Given the description of an element on the screen output the (x, y) to click on. 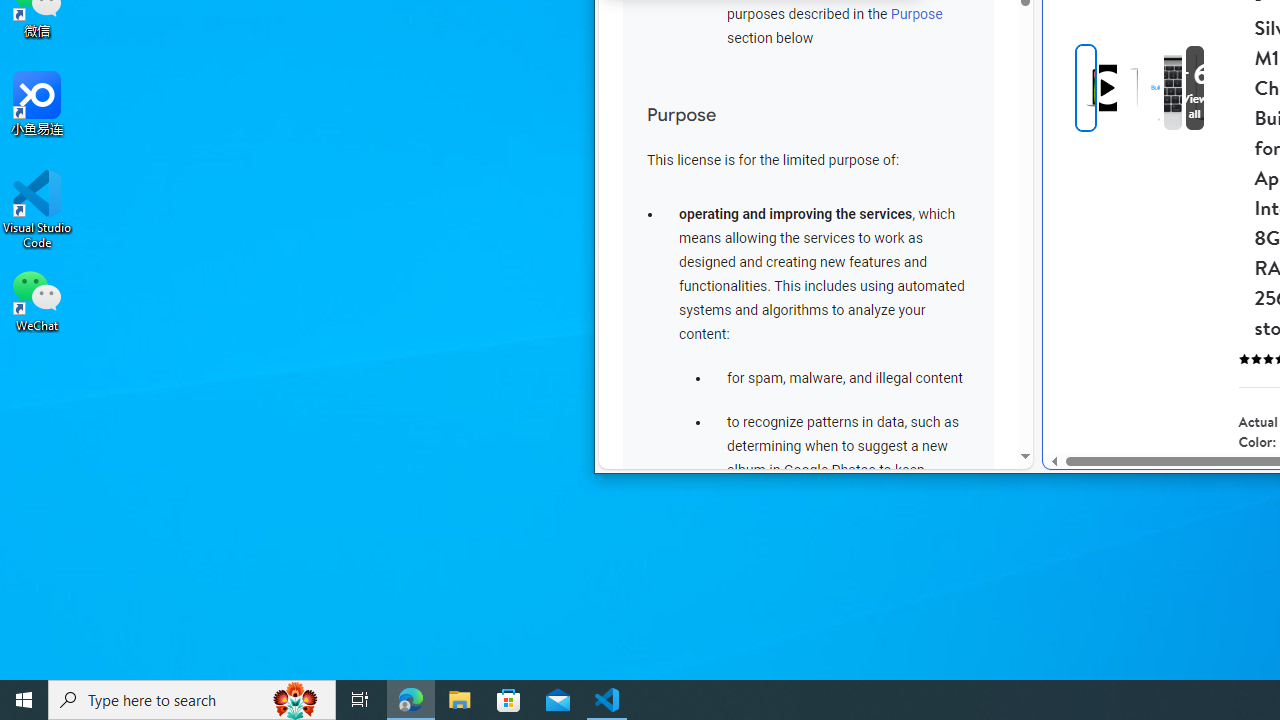
Class: absolute pointer (1107, 88)
View all media (1227, 88)
Visual Studio Code - 1 running window (607, 699)
File Explorer (460, 699)
Microsoft Store (509, 699)
Task View (359, 699)
Gold (1259, 483)
